Given the description of an element on the screen output the (x, y) to click on. 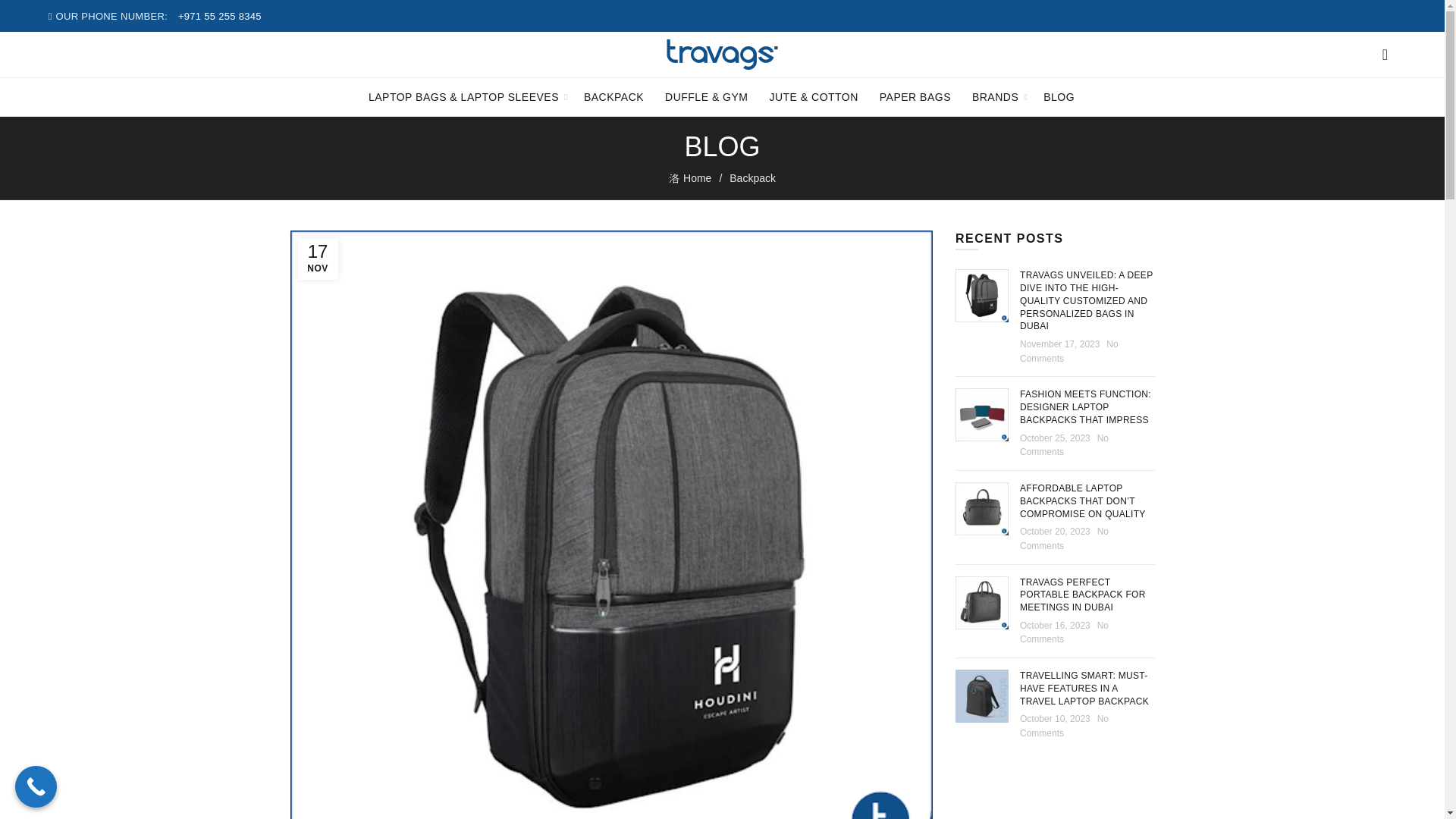
BRANDS (994, 96)
Backpack (752, 177)
BLOG (1058, 96)
PAPER BAGS (914, 96)
Home (698, 178)
BACKPACK (613, 96)
